Given the description of an element on the screen output the (x, y) to click on. 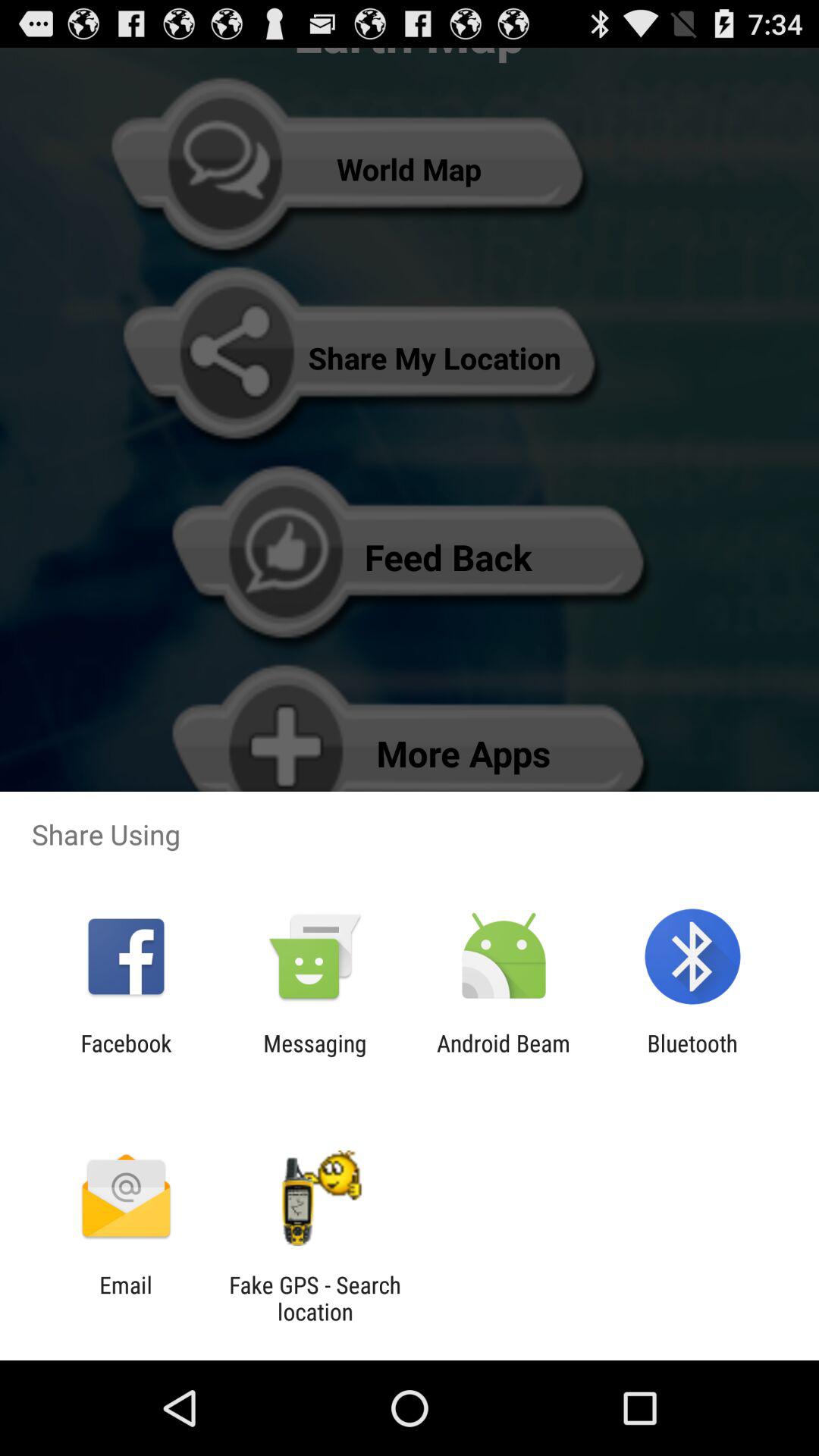
press item to the right of android beam icon (692, 1056)
